Given the description of an element on the screen output the (x, y) to click on. 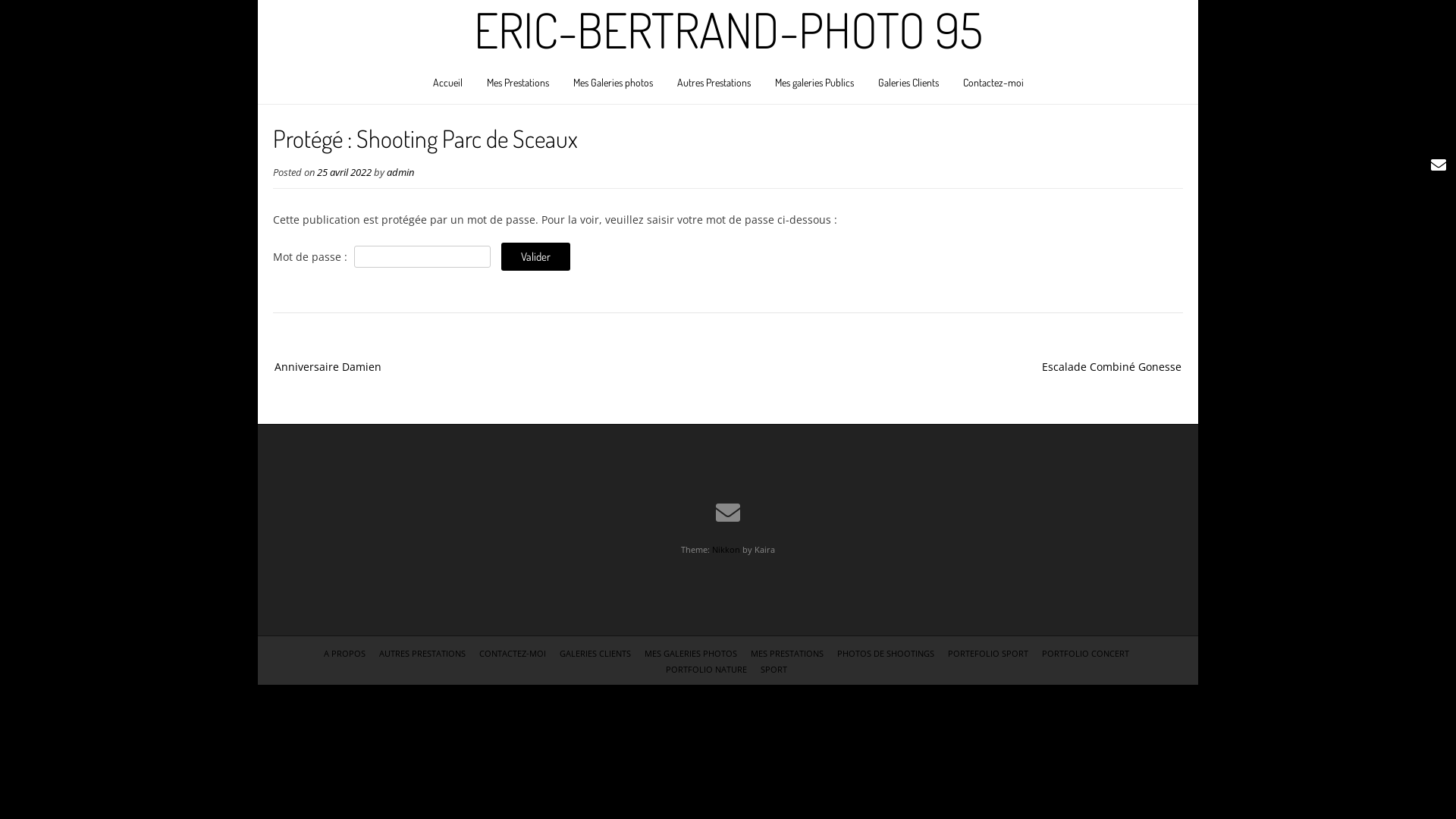
PHOTOS DE SHOOTINGS Element type: text (885, 652)
25 avril 2022 Element type: text (343, 172)
Anniversaire Damien Element type: text (342, 366)
Mes galeries Publics Element type: text (814, 84)
A PROPOS Element type: text (343, 652)
MES PRESTATIONS Element type: text (786, 652)
PORTFOLIO CONCERT Element type: text (1085, 652)
ERIC-BERTRAND-PHOTO 95 Element type: text (727, 29)
Mes Galeries photos Element type: text (613, 84)
MES GALERIES PHOTOS Element type: text (690, 652)
GALERIES CLIENTS Element type: text (594, 652)
admin Element type: text (400, 172)
PORTEFOLIO SPORT Element type: text (987, 652)
Accueil Element type: text (446, 84)
Valider Element type: text (535, 256)
Autres Prestations Element type: text (713, 84)
Mes Prestations Element type: text (517, 84)
SPORT Element type: text (772, 668)
Nikkon Element type: text (726, 549)
Galeries Clients Element type: text (908, 84)
Send Us an Email Element type: hover (727, 512)
Contactez-moi Element type: text (992, 84)
AUTRES PRESTATIONS Element type: text (422, 652)
CONTACTEZ-MOI Element type: text (512, 652)
PORTFOLIO NATURE Element type: text (705, 668)
